Given the description of an element on the screen output the (x, y) to click on. 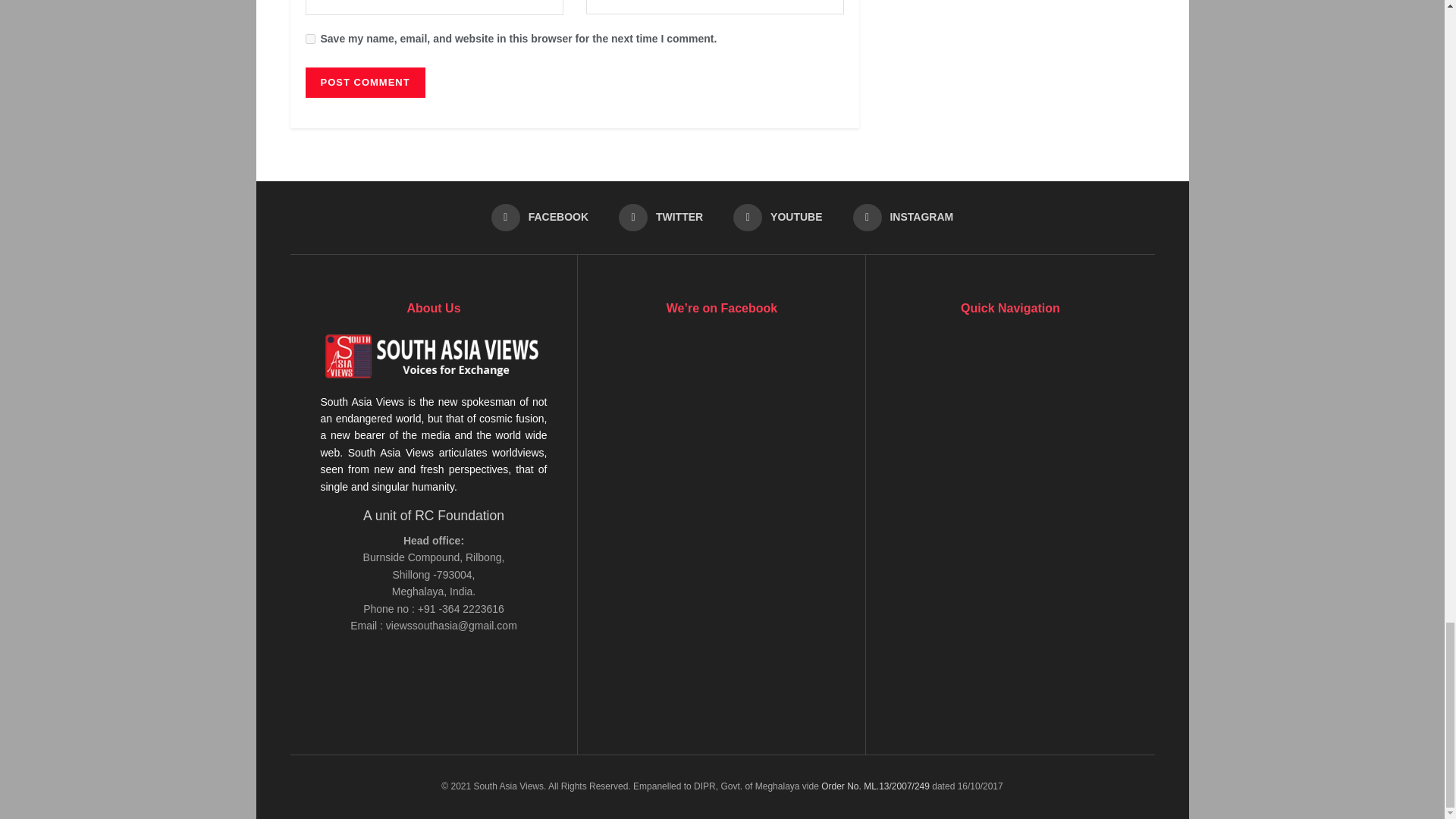
Post Comment (364, 82)
yes (309, 39)
